Given the description of an element on the screen output the (x, y) to click on. 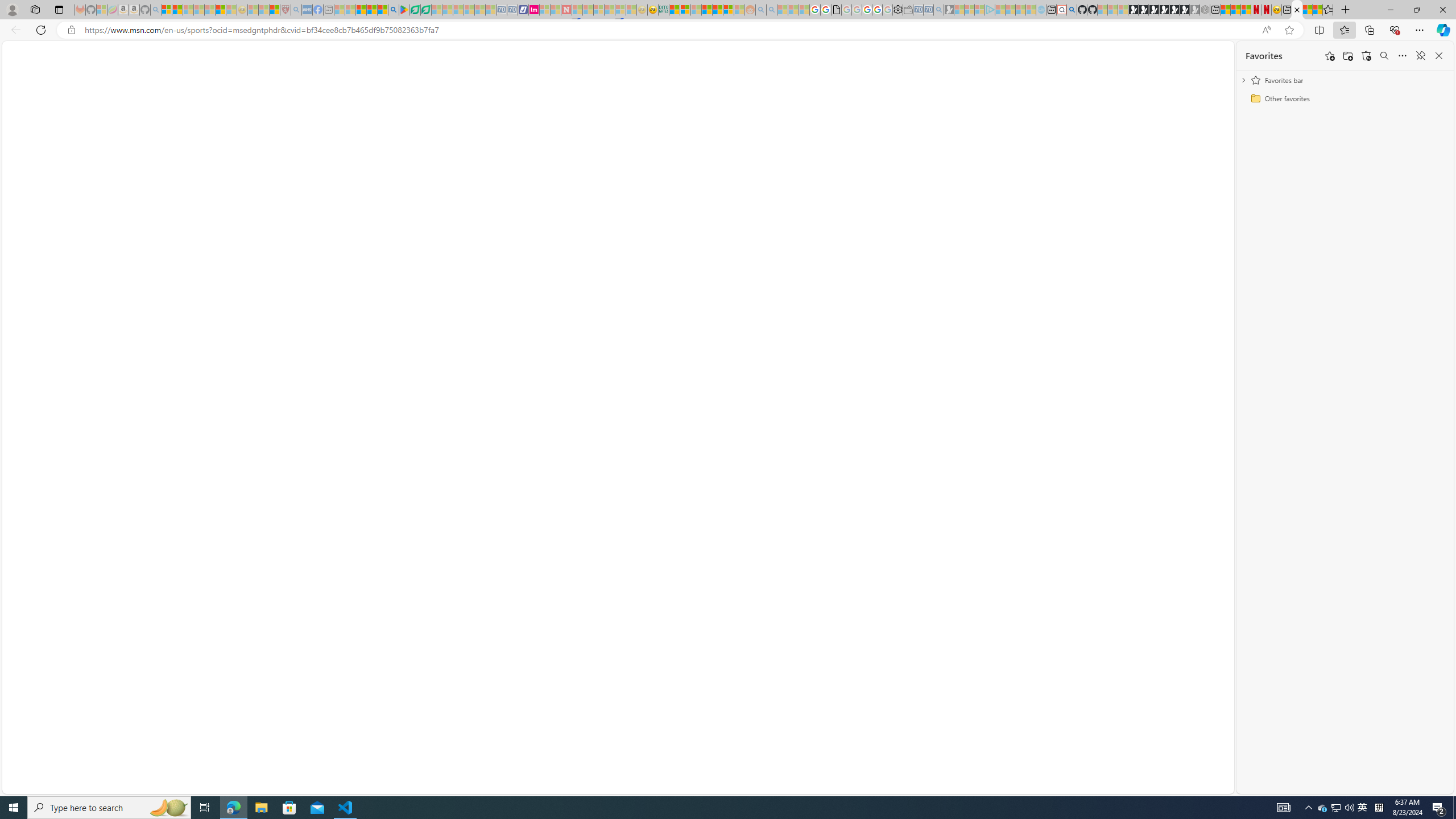
Add folder (1347, 55)
Latest Politics News & Archive | Newsweek.com - Sleeping (566, 9)
